Given the description of an element on the screen output the (x, y) to click on. 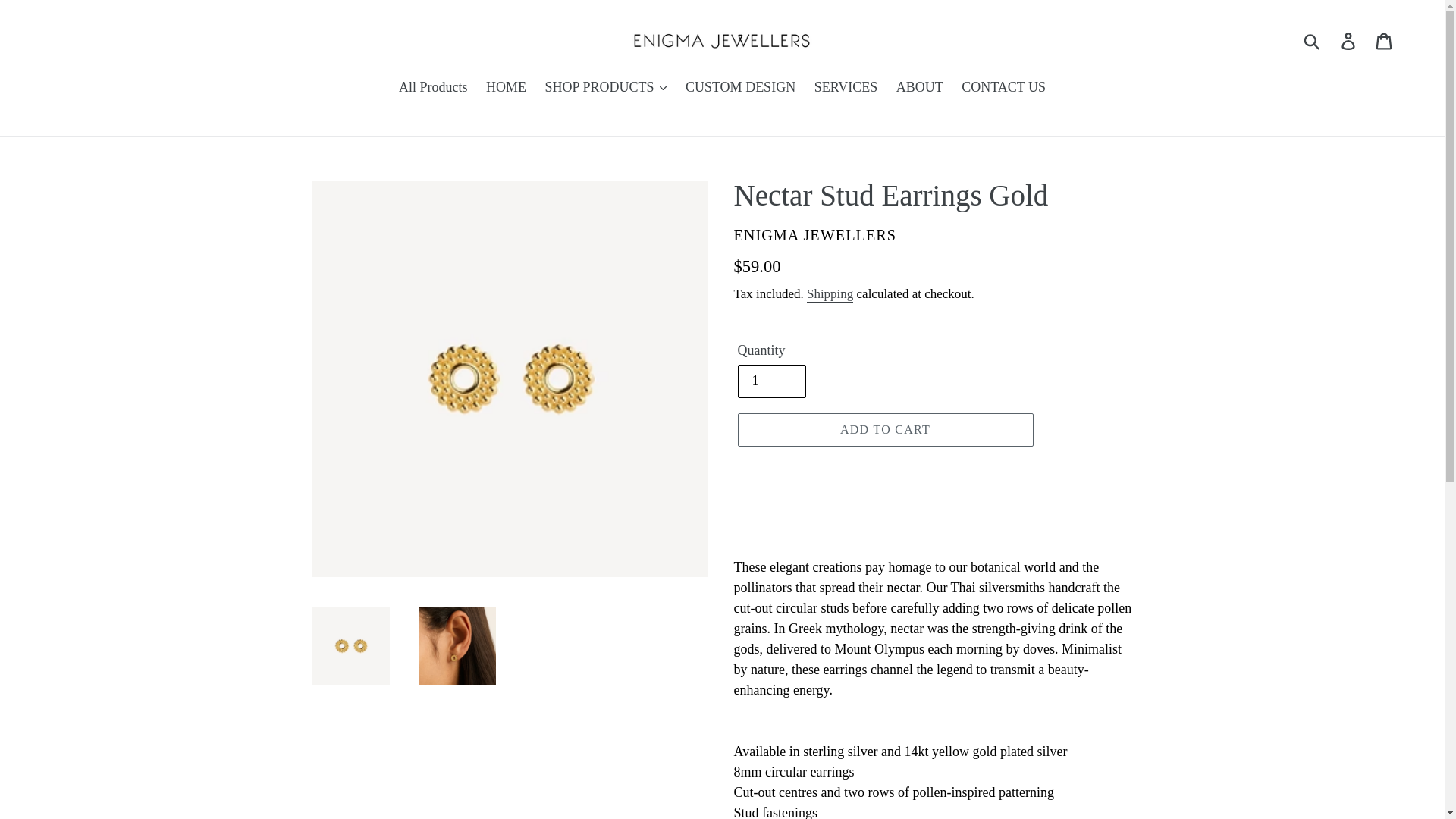
Cart (1385, 40)
Log in (1349, 40)
Submit (1313, 40)
1 (770, 381)
